Given the description of an element on the screen output the (x, y) to click on. 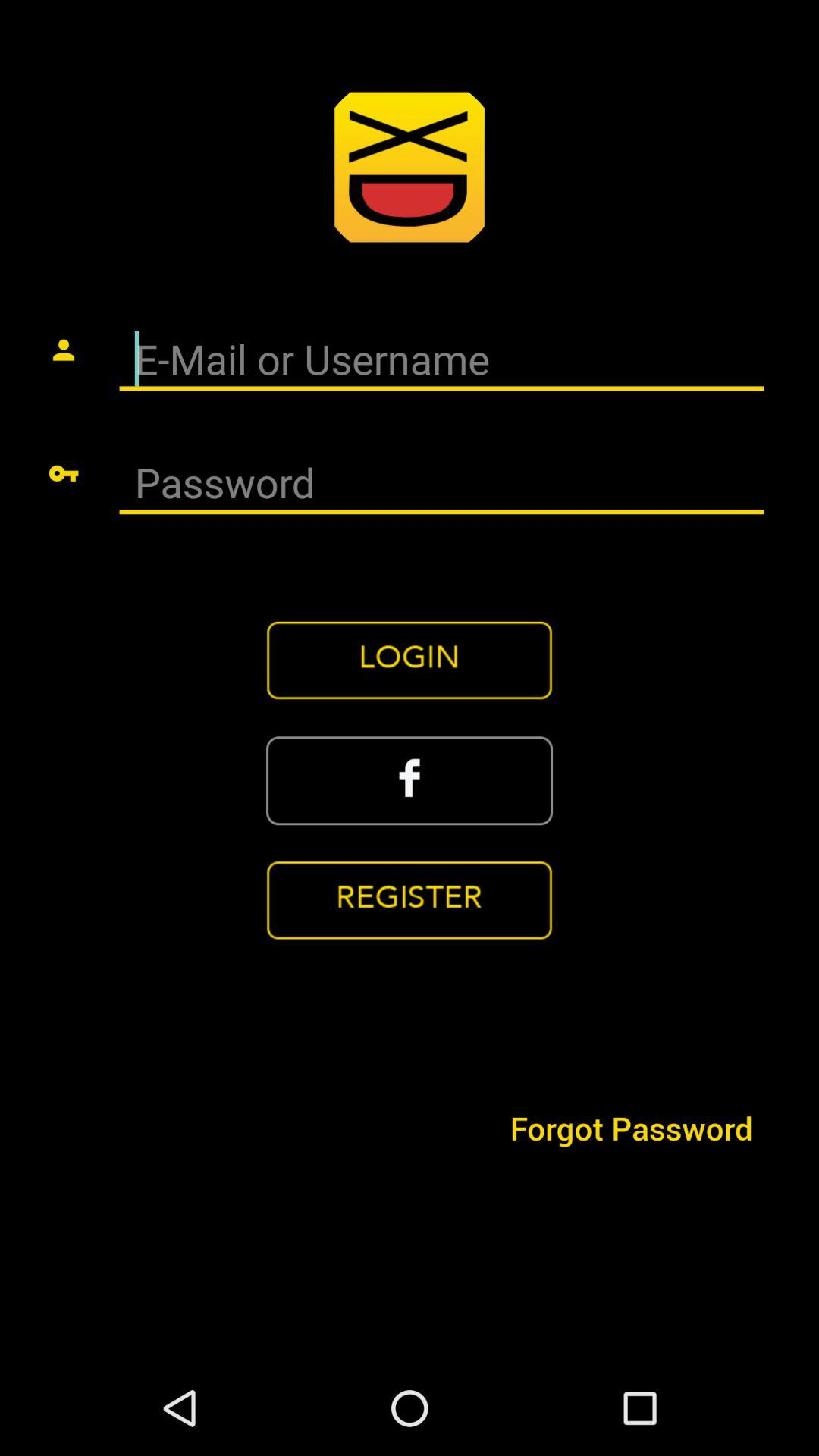
login button (409, 660)
